Given the description of an element on the screen output the (x, y) to click on. 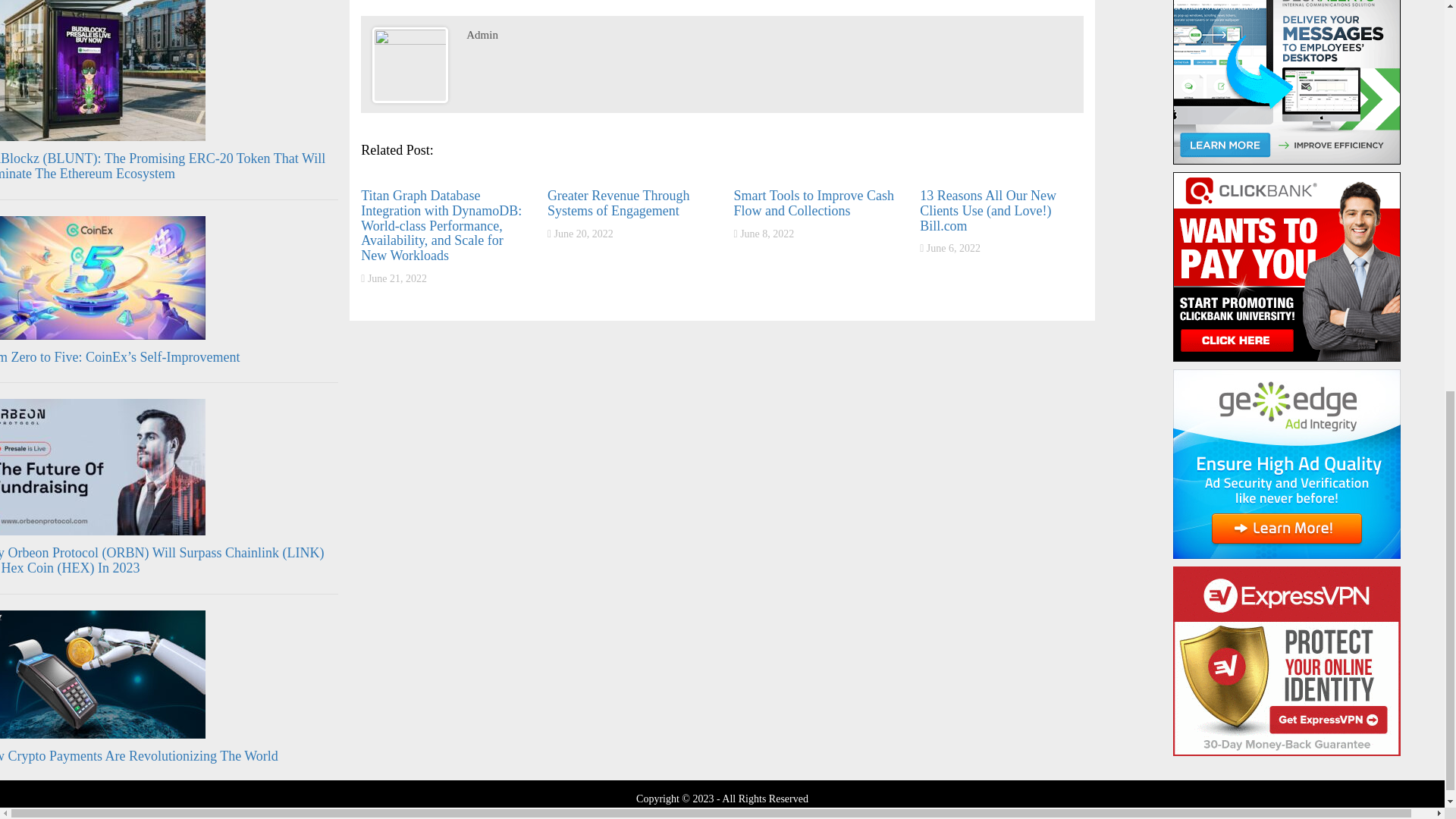
How Crypto Payments Are Revolutionizing The World (139, 755)
Posts by Admin (481, 34)
